Given the description of an element on the screen output the (x, y) to click on. 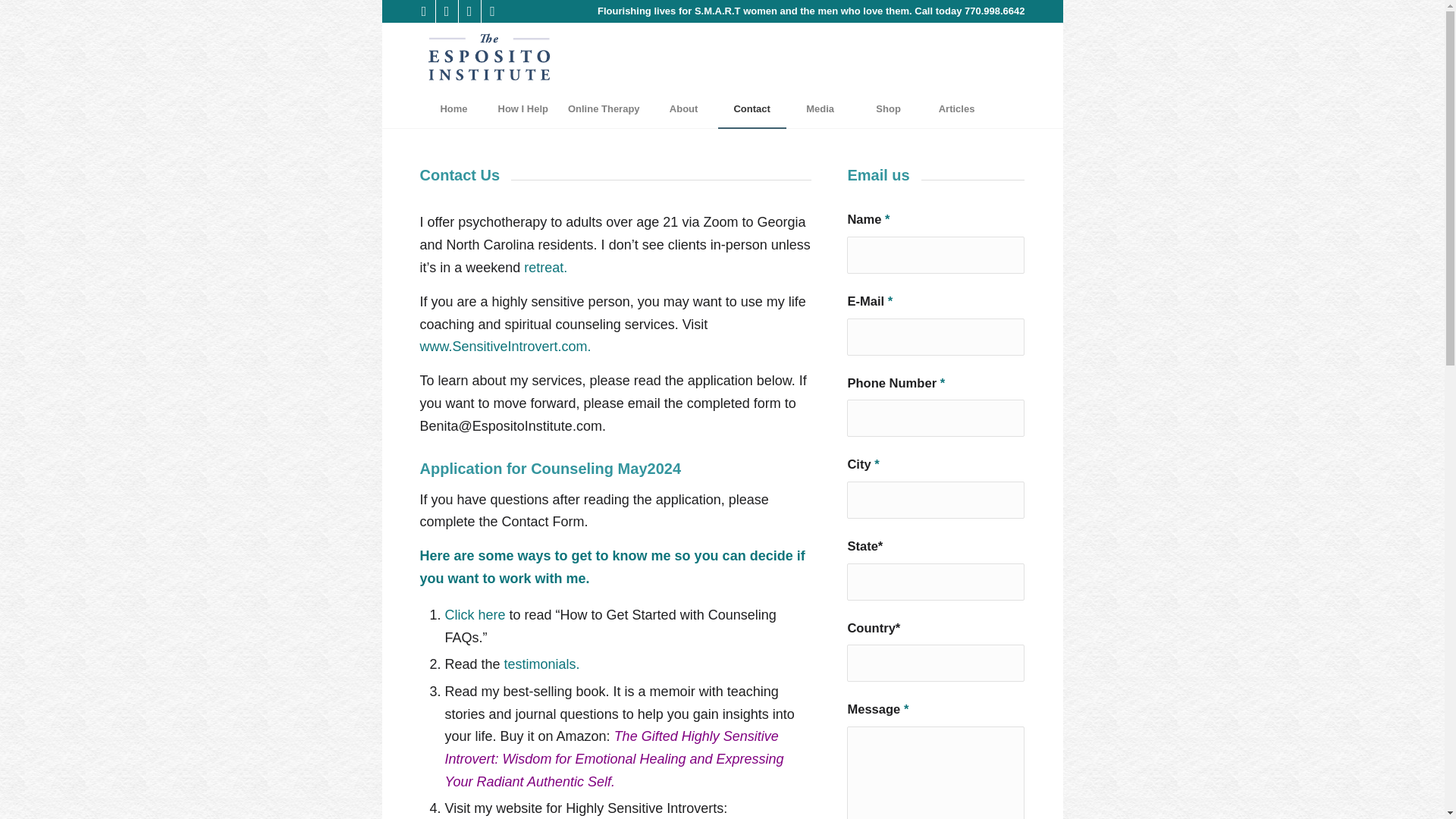
Facebook (422, 11)
X (491, 11)
Mail (446, 11)
Online Therapy (603, 108)
About (683, 108)
logo05 (489, 56)
Home (453, 108)
How I Help (522, 108)
LinkedIn (469, 11)
